Given the description of an element on the screen output the (x, y) to click on. 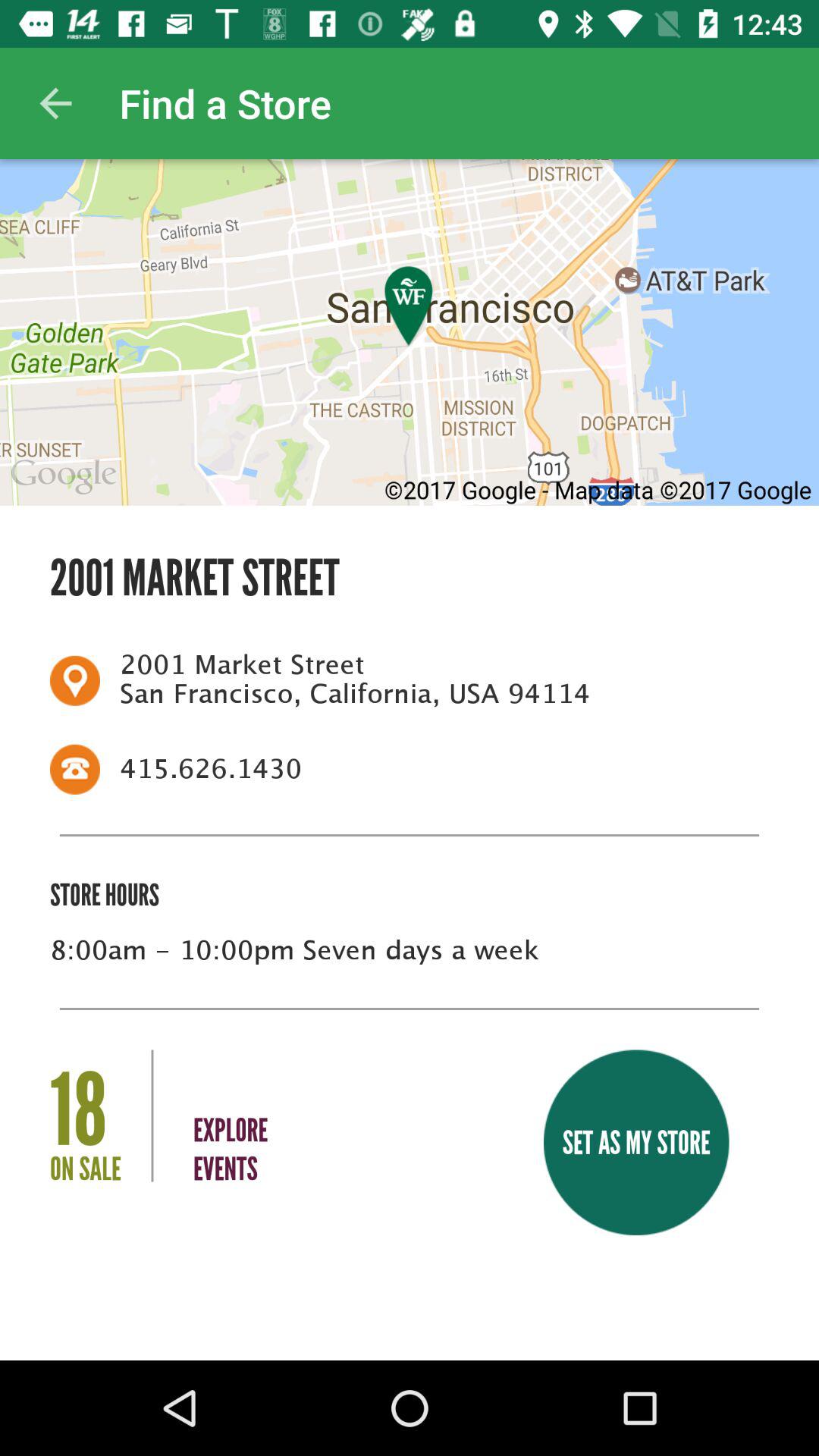
open the icon to the left of the set as my item (230, 1118)
